Given the description of an element on the screen output the (x, y) to click on. 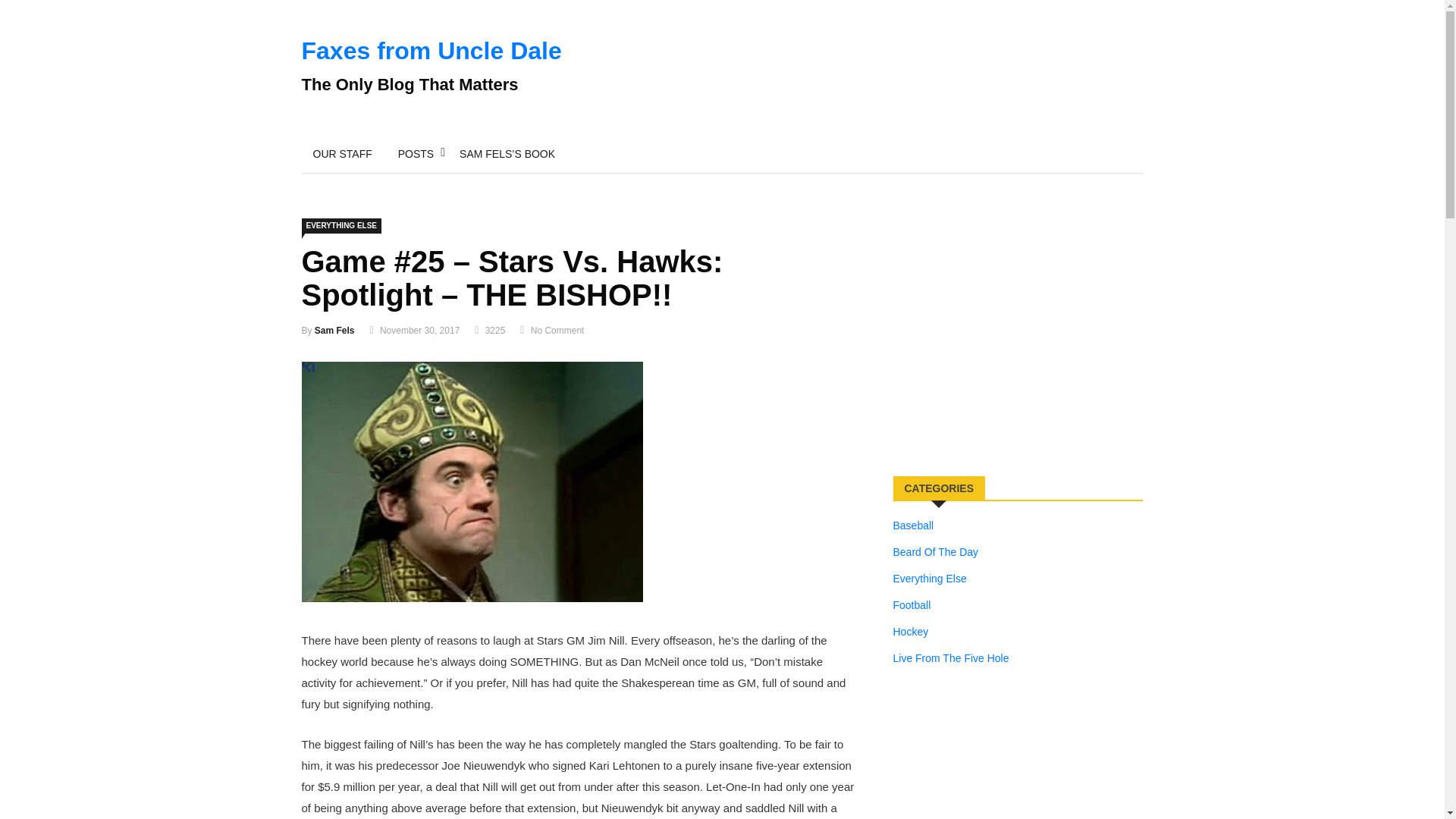
OUR STAFF (342, 153)
Football (912, 605)
No Comment (558, 330)
Sam Fels (334, 330)
Live From The Five Hole (951, 658)
Faxes from Uncle Dale (431, 50)
Beard Of The Day (935, 551)
EVERYTHING ELSE (341, 225)
Baseball (913, 525)
Everything Else (929, 578)
POSTS (416, 153)
Hockey (910, 631)
